Given the description of an element on the screen output the (x, y) to click on. 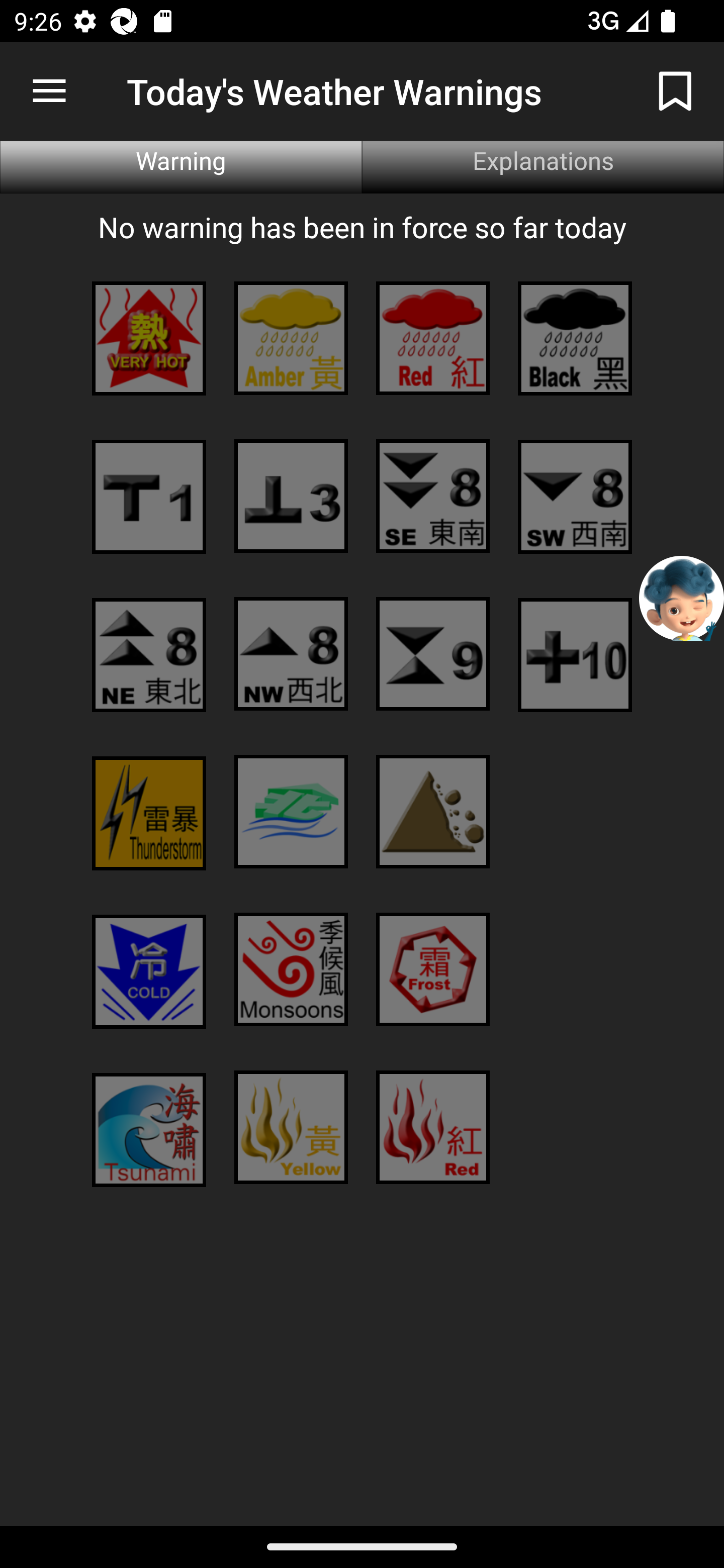
Navigate up (49, 91)
Bookmark not added (674, 90)
Warning (181, 166)
Explanations (543, 166)
Chatbot (681, 598)
